Given the description of an element on the screen output the (x, y) to click on. 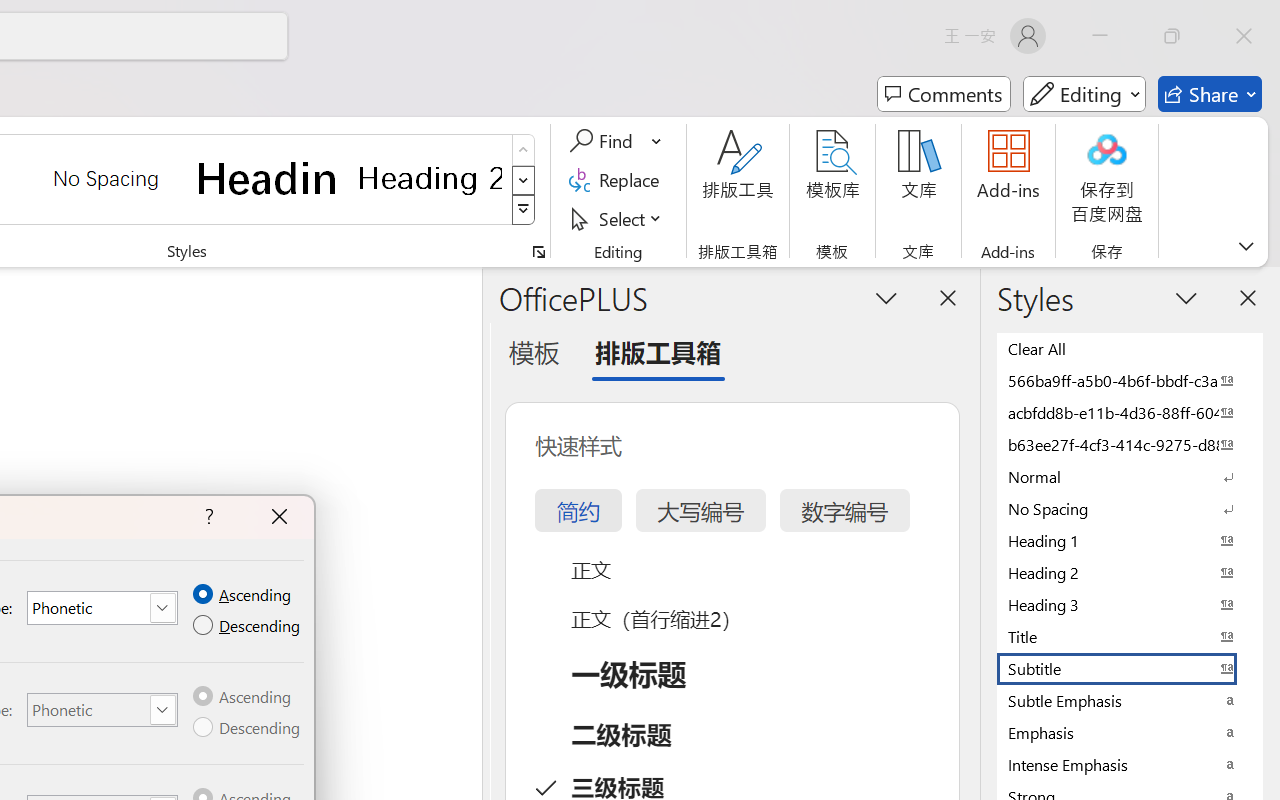
Styles (523, 209)
acbfdd8b-e11b-4d36-88ff-6049b138f862 (1130, 412)
Comments (943, 94)
Heading 1 (267, 178)
Clear All (1130, 348)
Descending (248, 727)
Subtle Emphasis (1130, 700)
Select (618, 218)
Styles... (538, 252)
